Given the description of an element on the screen output the (x, y) to click on. 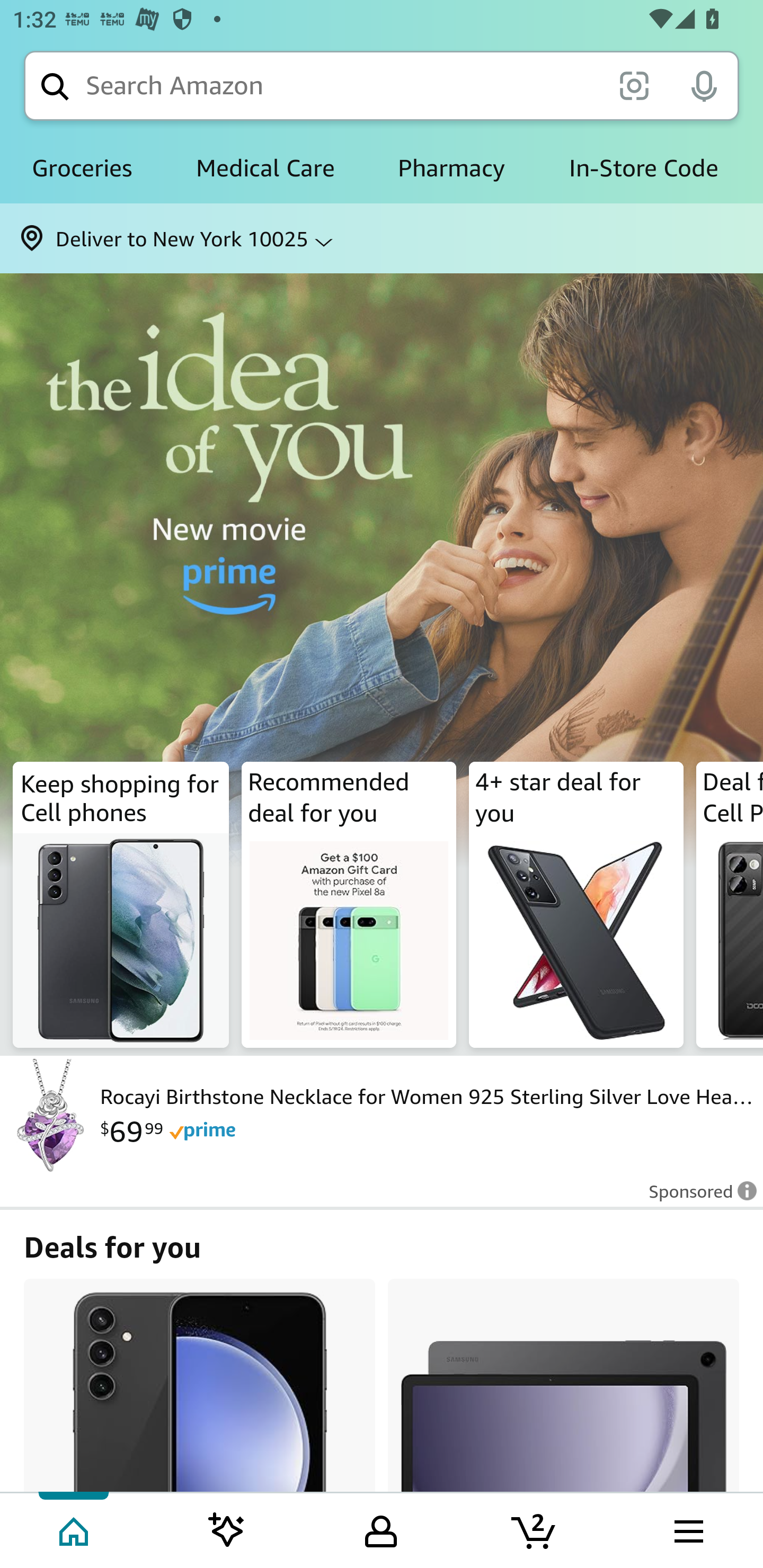
scan it (633, 85)
Groceries (82, 168)
Medical Care (265, 168)
Pharmacy (451, 168)
In-Store Code (643, 168)
Deliver to New York 10025 ⌵ (381, 237)
Leave feedback on Sponsored ad Sponsored  (696, 1196)
Home Tab 1 of 5 (75, 1529)
Inspire feed Tab 2 of 5 (227, 1529)
Your Amazon.com Tab 3 of 5 (380, 1529)
Cart 2 items Tab 4 of 5 2 (534, 1529)
Browse menu Tab 5 of 5 (687, 1529)
